Given the description of an element on the screen output the (x, y) to click on. 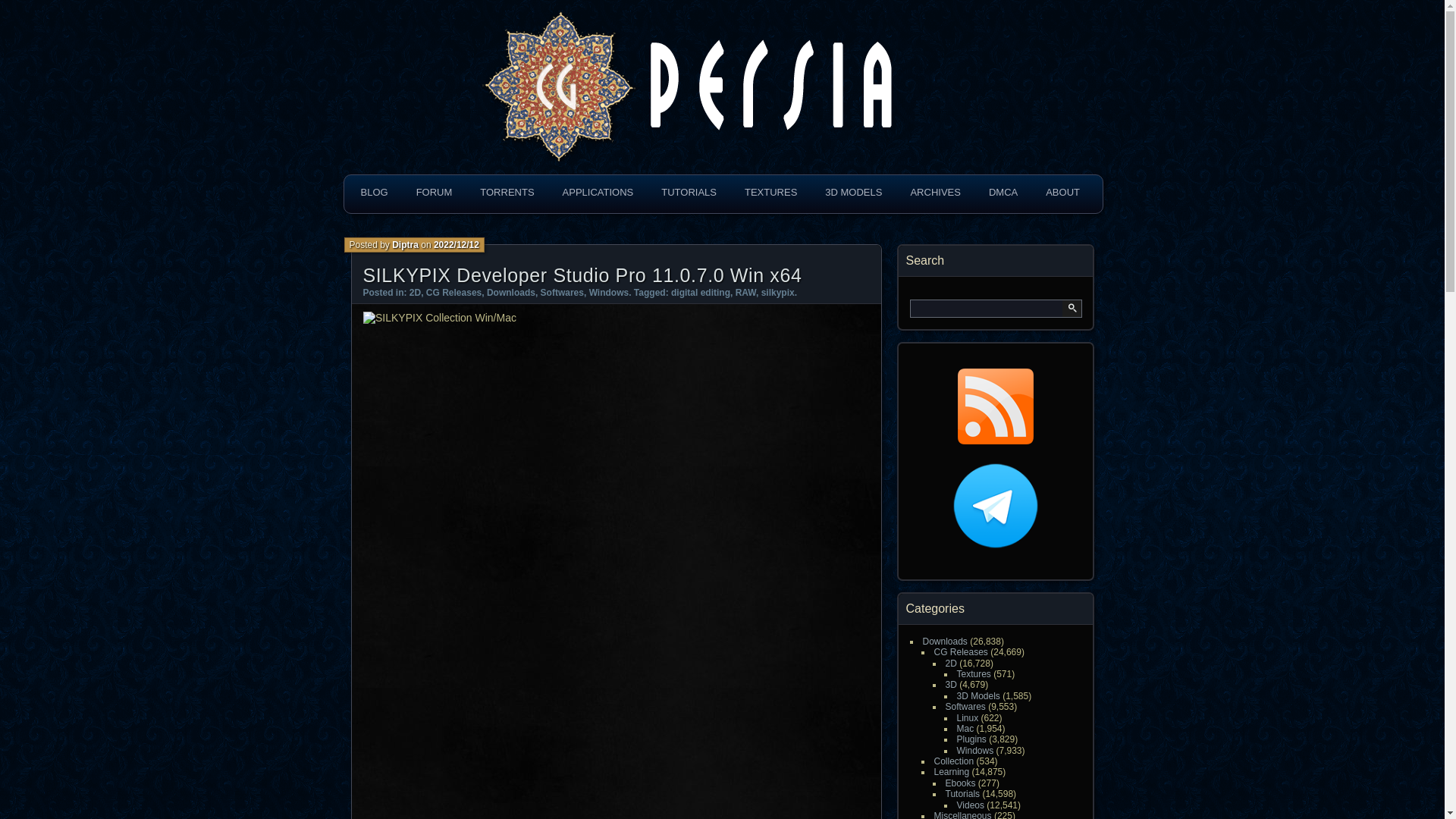
CG Persia (442, 44)
RSS Feed (994, 406)
BLOG (373, 192)
TORRENTS (506, 192)
APPLICATIONS (598, 192)
View all posts by Diptra (405, 244)
FORUM (434, 192)
Join Our Telegram Channel (995, 505)
